Given the description of an element on the screen output the (x, y) to click on. 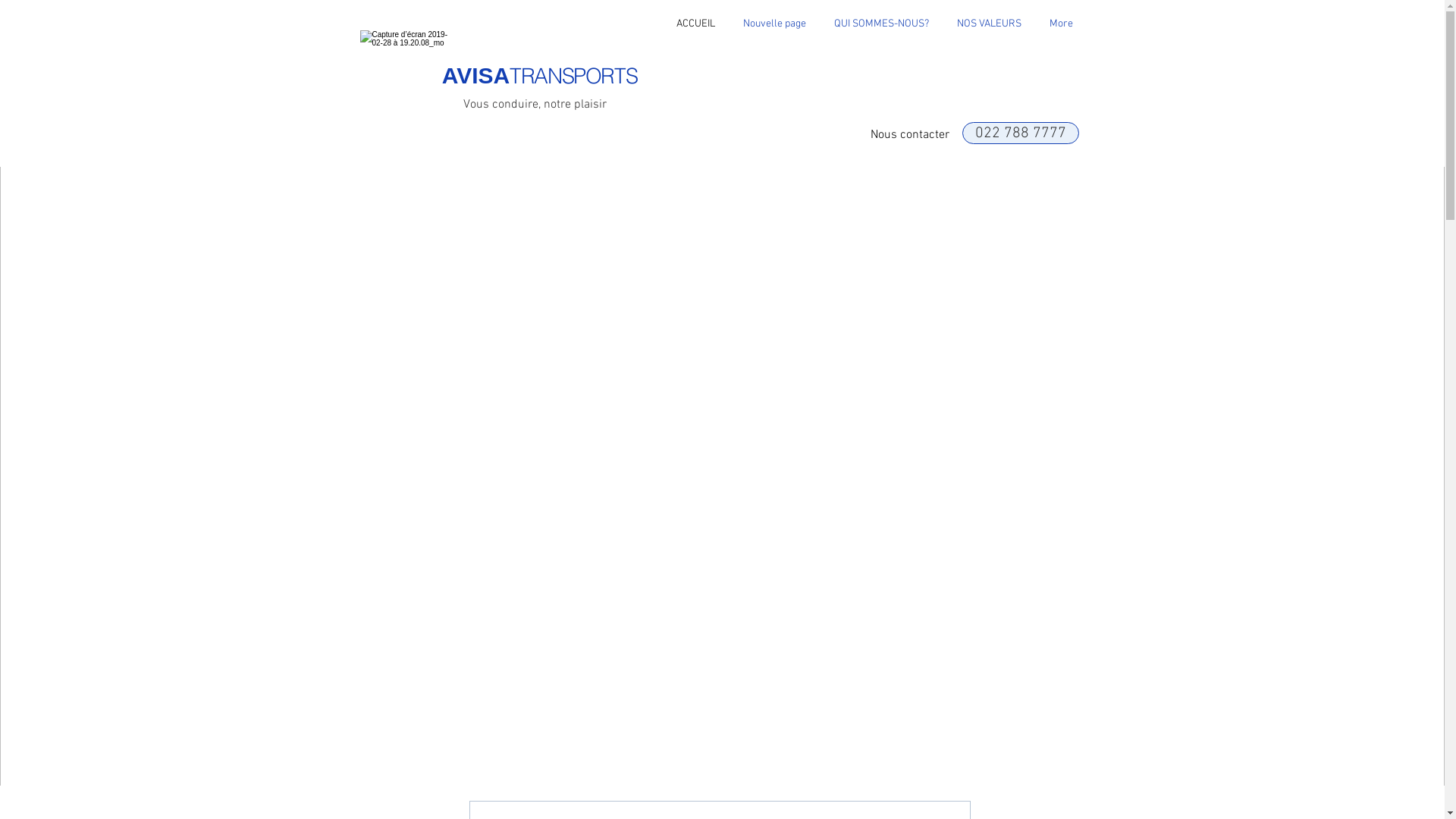
AVISA Element type: text (475, 74)
Nouvelle page Element type: text (774, 24)
QUI SOMMES-NOUS? Element type: text (881, 24)
TRANSPORTS Element type: text (573, 75)
022 788 7777 Element type: text (1019, 133)
ACCUEIL Element type: text (694, 24)
NOS VALEURS Element type: text (989, 24)
